Given the description of an element on the screen output the (x, y) to click on. 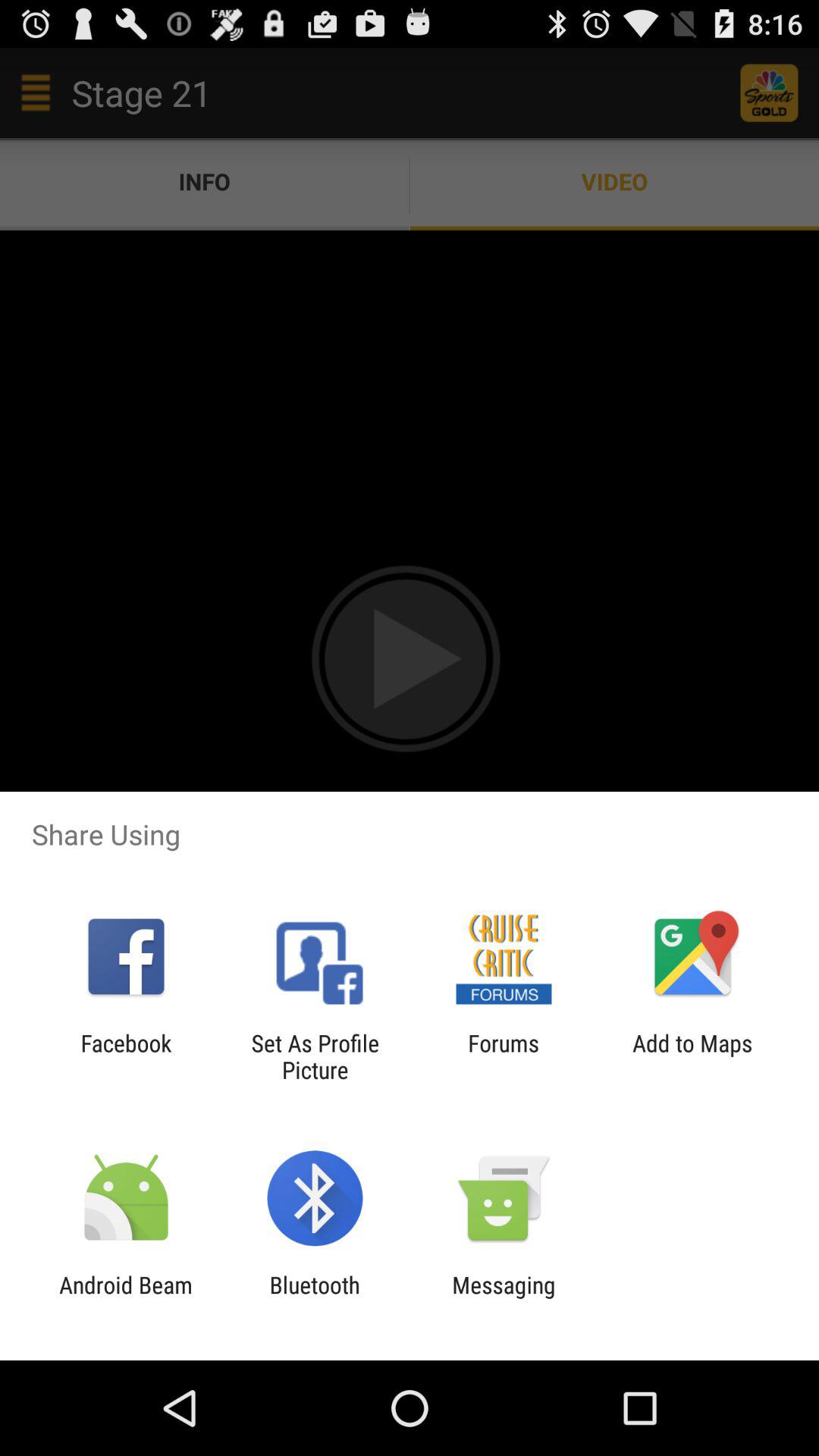
turn on item to the left of messaging icon (314, 1298)
